Given the description of an element on the screen output the (x, y) to click on. 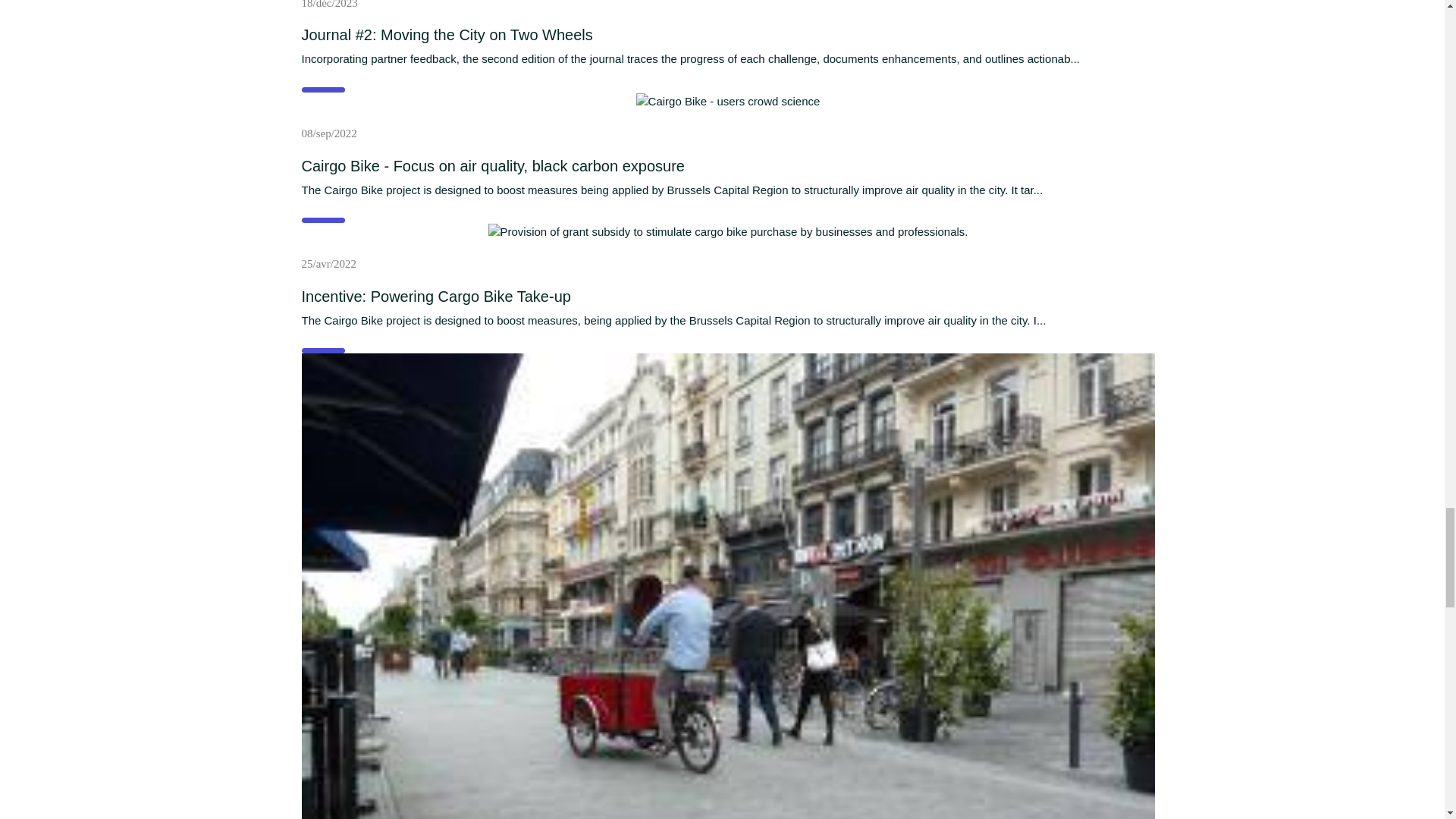
Measuring black carbon exposure (728, 101)
Putting cargo bikes on the road and in mindsets (727, 231)
